Given the description of an element on the screen output the (x, y) to click on. 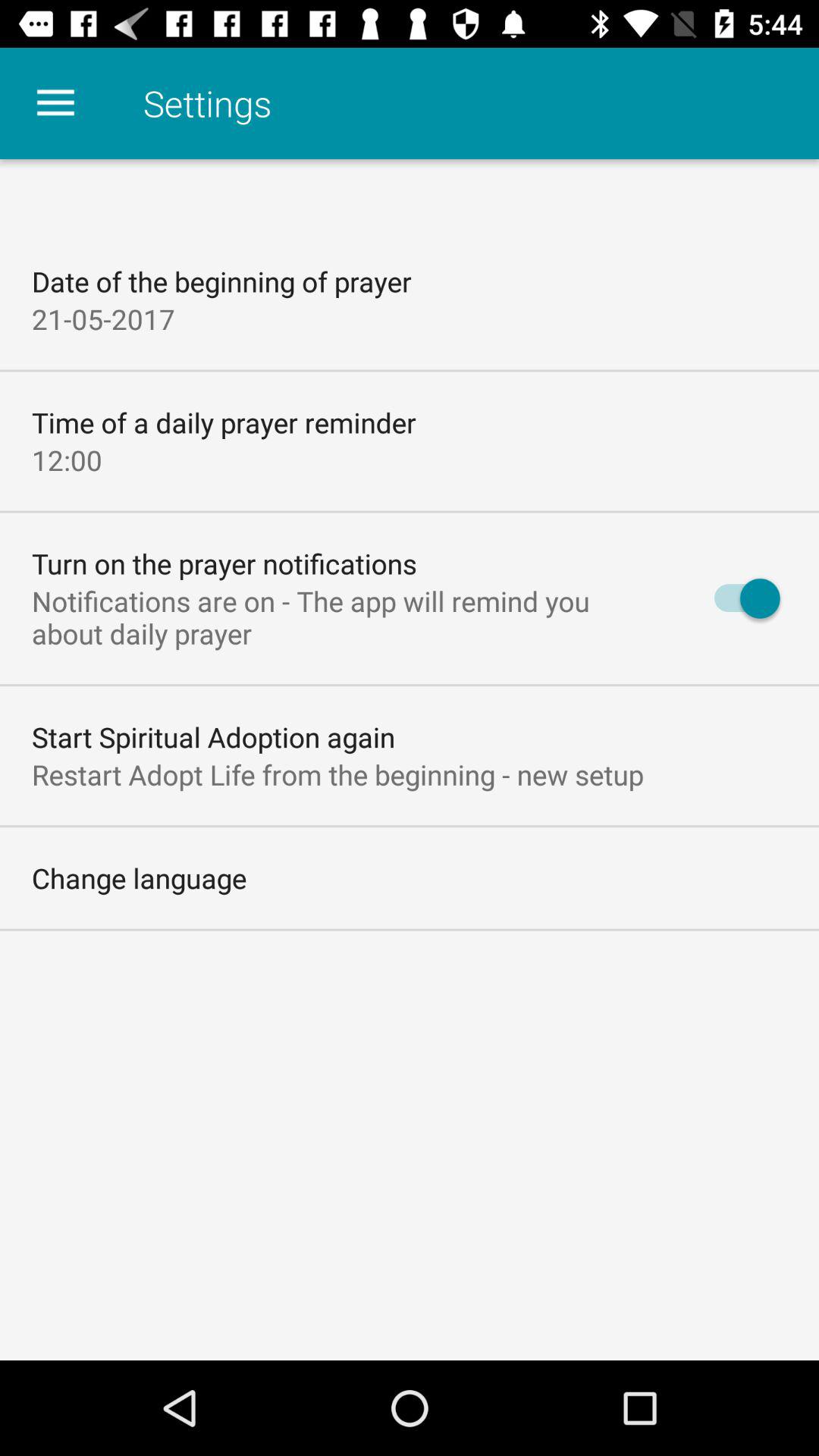
scroll until 12:00 icon (66, 459)
